Given the description of an element on the screen output the (x, y) to click on. 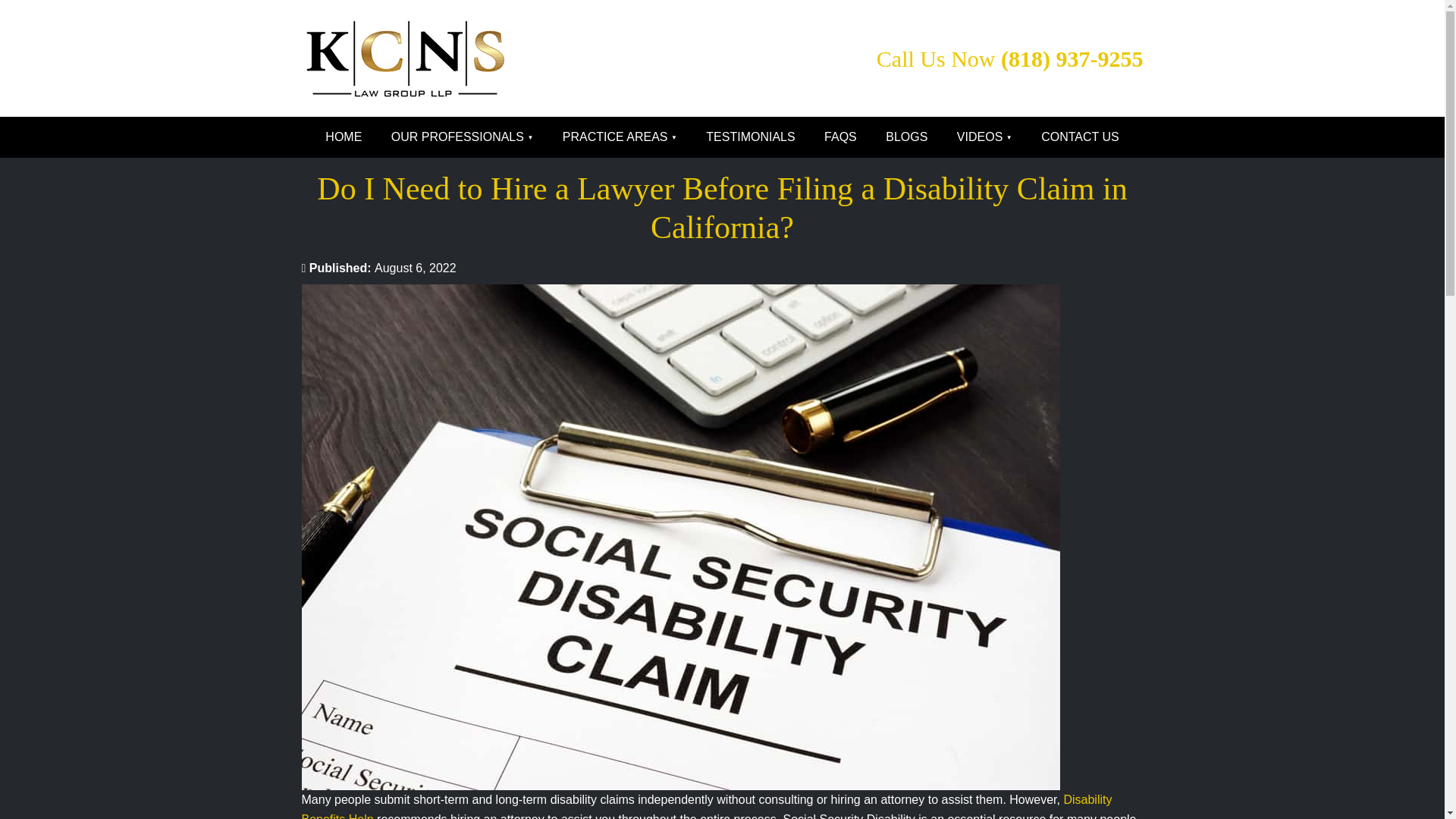
BLOGS (906, 137)
OUR PROFESSIONALS (462, 137)
Disability Benefits Help (706, 806)
TESTIMONIALS (750, 137)
VIDEOS (984, 137)
PRACTICE AREAS (620, 137)
CONTACT US (1079, 137)
FAQS (839, 137)
HOME (343, 137)
